Given the description of an element on the screen output the (x, y) to click on. 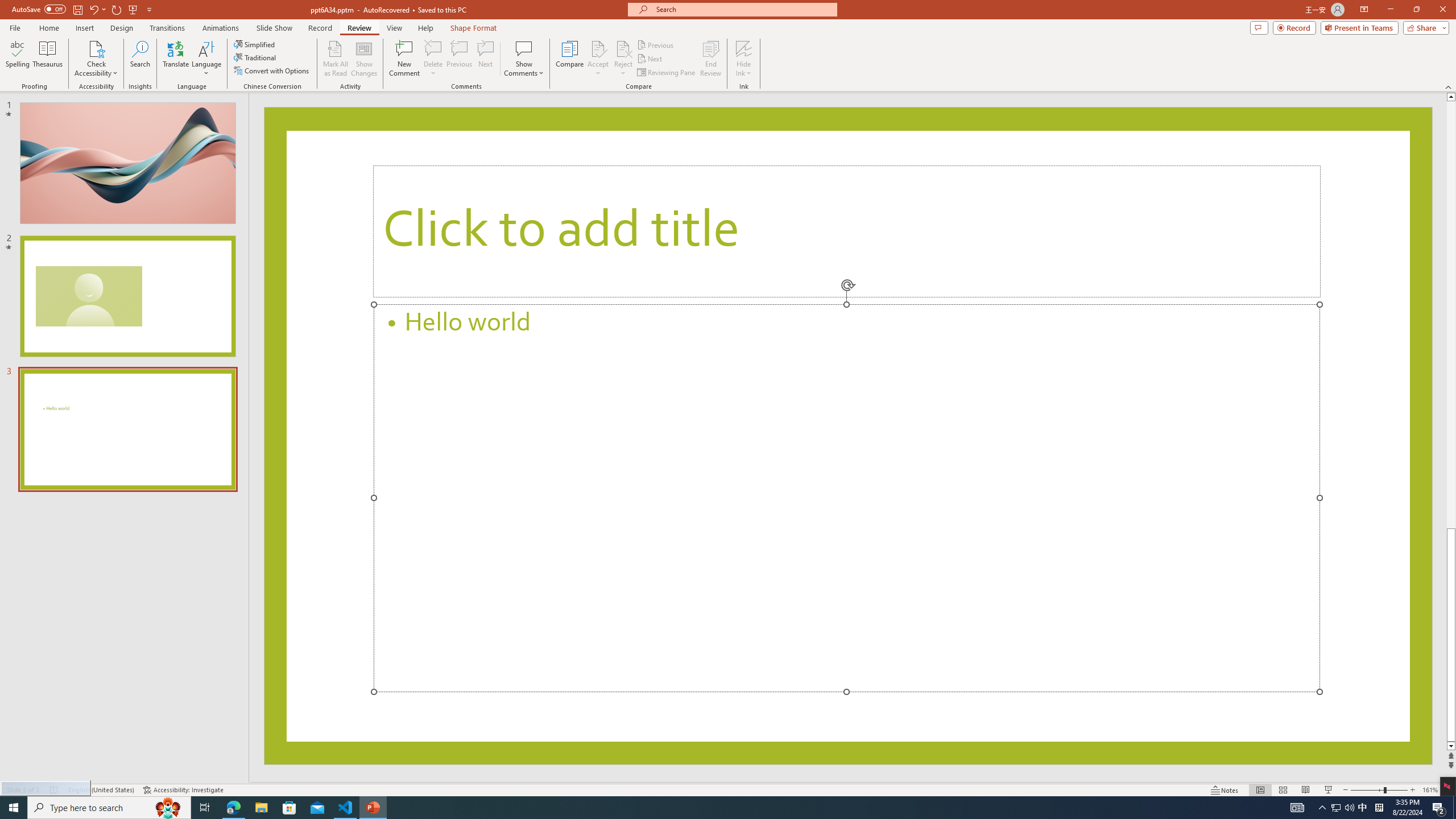
End Review (710, 58)
Zoom 161% (1430, 790)
Thesaurus... (47, 58)
New Comment (403, 58)
Spelling... (17, 58)
Next (649, 58)
Previous (655, 44)
Check Accessibility (95, 58)
